Given the description of an element on the screen output the (x, y) to click on. 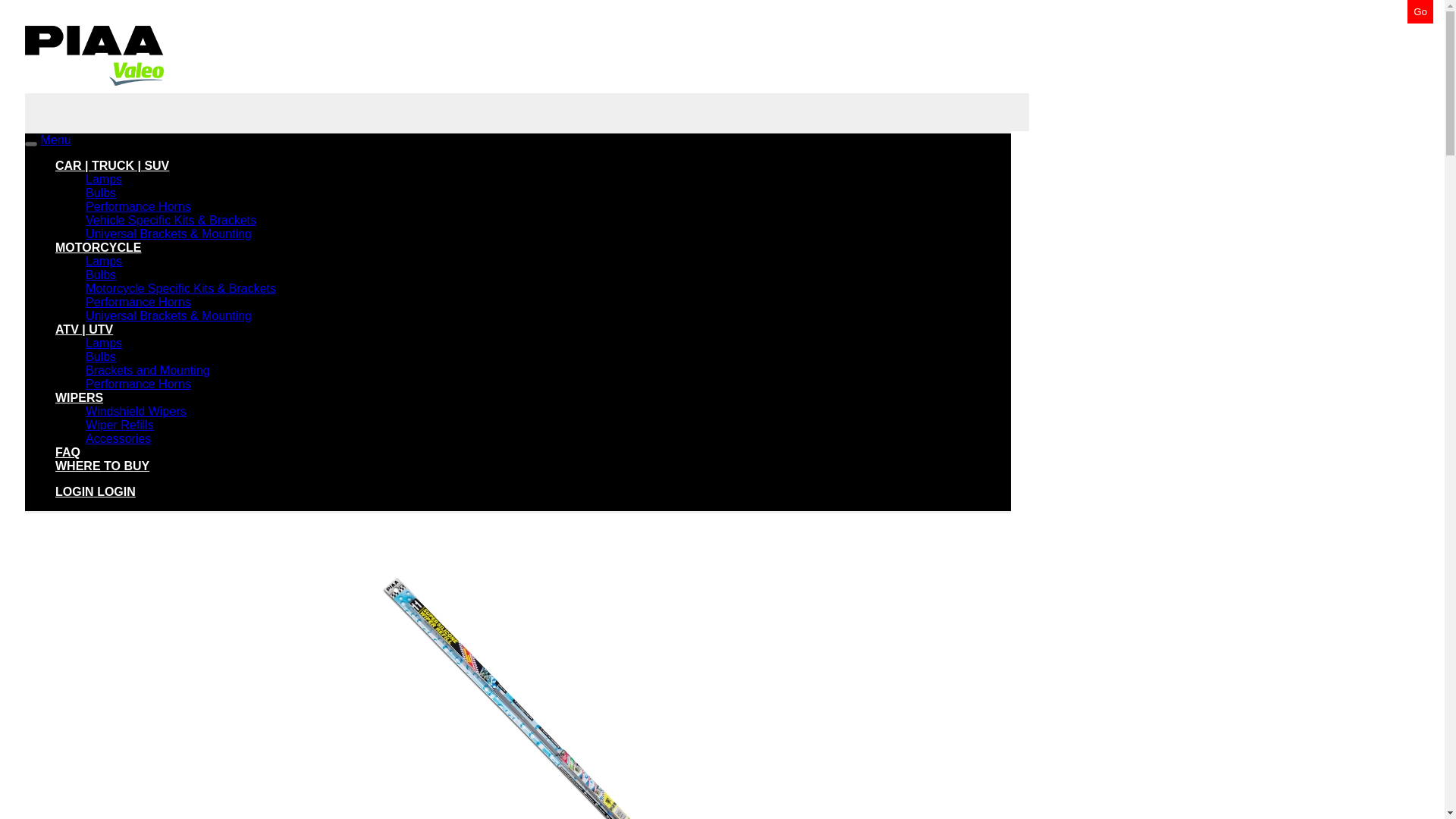
Lamps (103, 178)
Bulbs (100, 274)
Performance Horns (137, 383)
Lamps (103, 260)
Accessories (118, 438)
Bulbs (100, 356)
WHERE TO BUY (102, 465)
Windshield Wipers (135, 410)
LOGIN LOGIN (95, 491)
Performance Horns (137, 301)
WIPERS (79, 397)
Performance Horns (137, 205)
Brackets and Mounting (147, 369)
FAQ (67, 451)
Bulbs (100, 192)
